Given the description of an element on the screen output the (x, y) to click on. 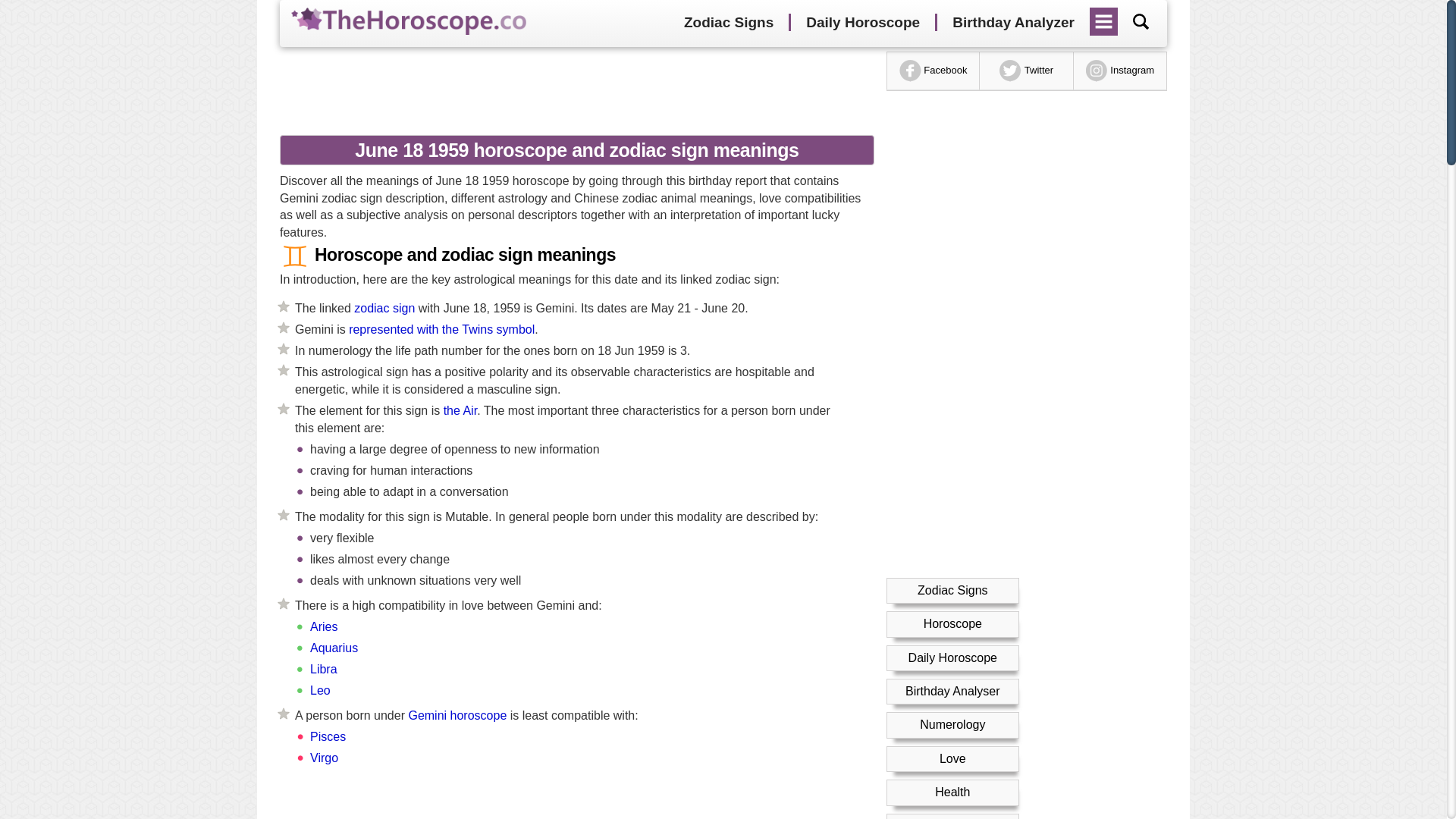
Love (952, 758)
Menu (1104, 16)
Numerology (952, 724)
Birthday Analyser (952, 690)
Daily Horoscope (862, 22)
Health (952, 791)
Zodiac Signs (952, 590)
Search by your birthday... (1140, 21)
Zodiac Signs (728, 22)
